Given the description of an element on the screen output the (x, y) to click on. 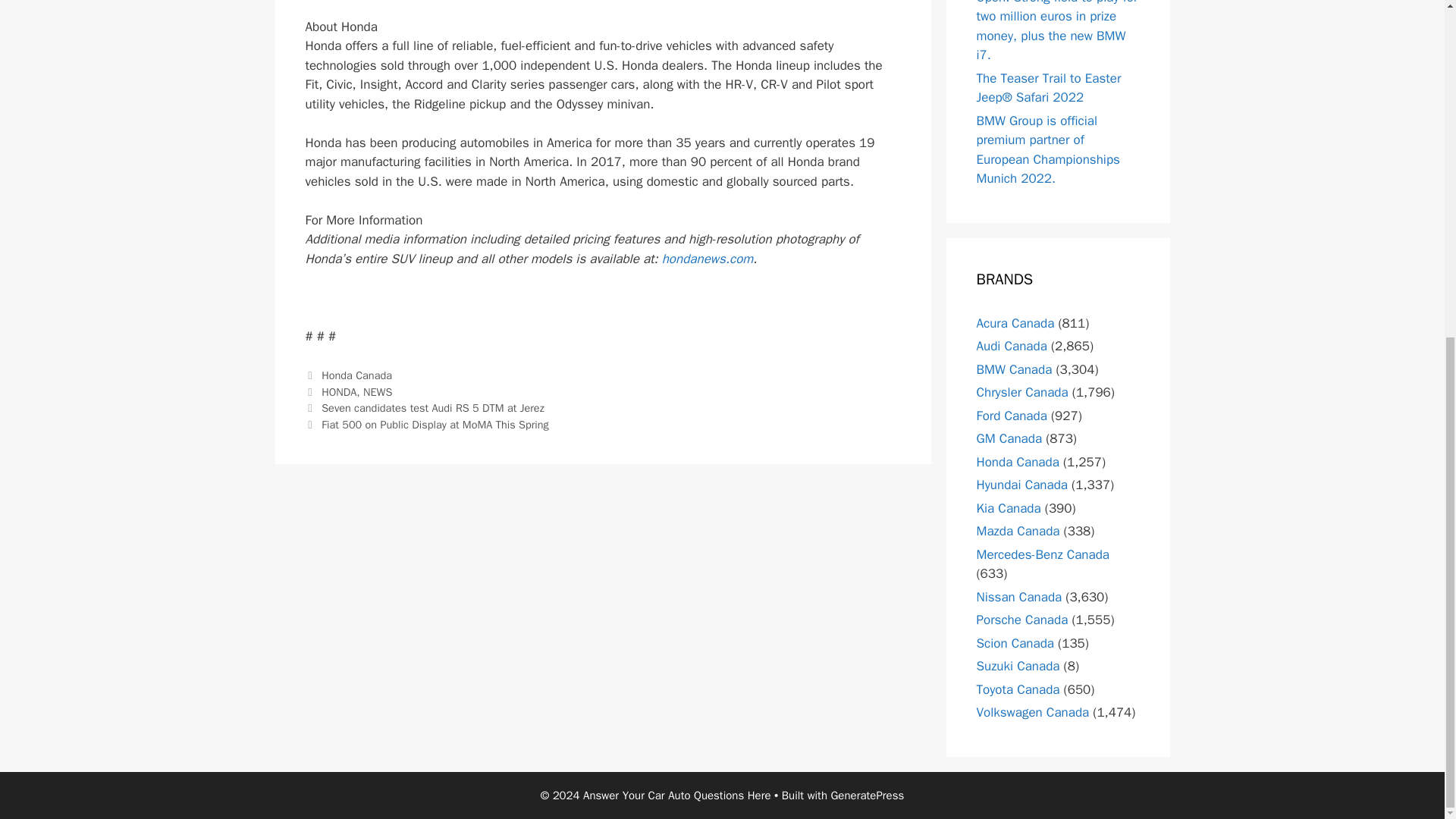
Scion Canada (1015, 643)
Kia Canada (1008, 508)
Acura Canada (1015, 323)
Ford Canada (1011, 415)
Hyundai Canada (1022, 484)
Nissan Canada (1019, 596)
Honda Canada (1017, 462)
Mercedes-Benz Canada (1042, 554)
GM Canada (1009, 438)
